Given the description of an element on the screen output the (x, y) to click on. 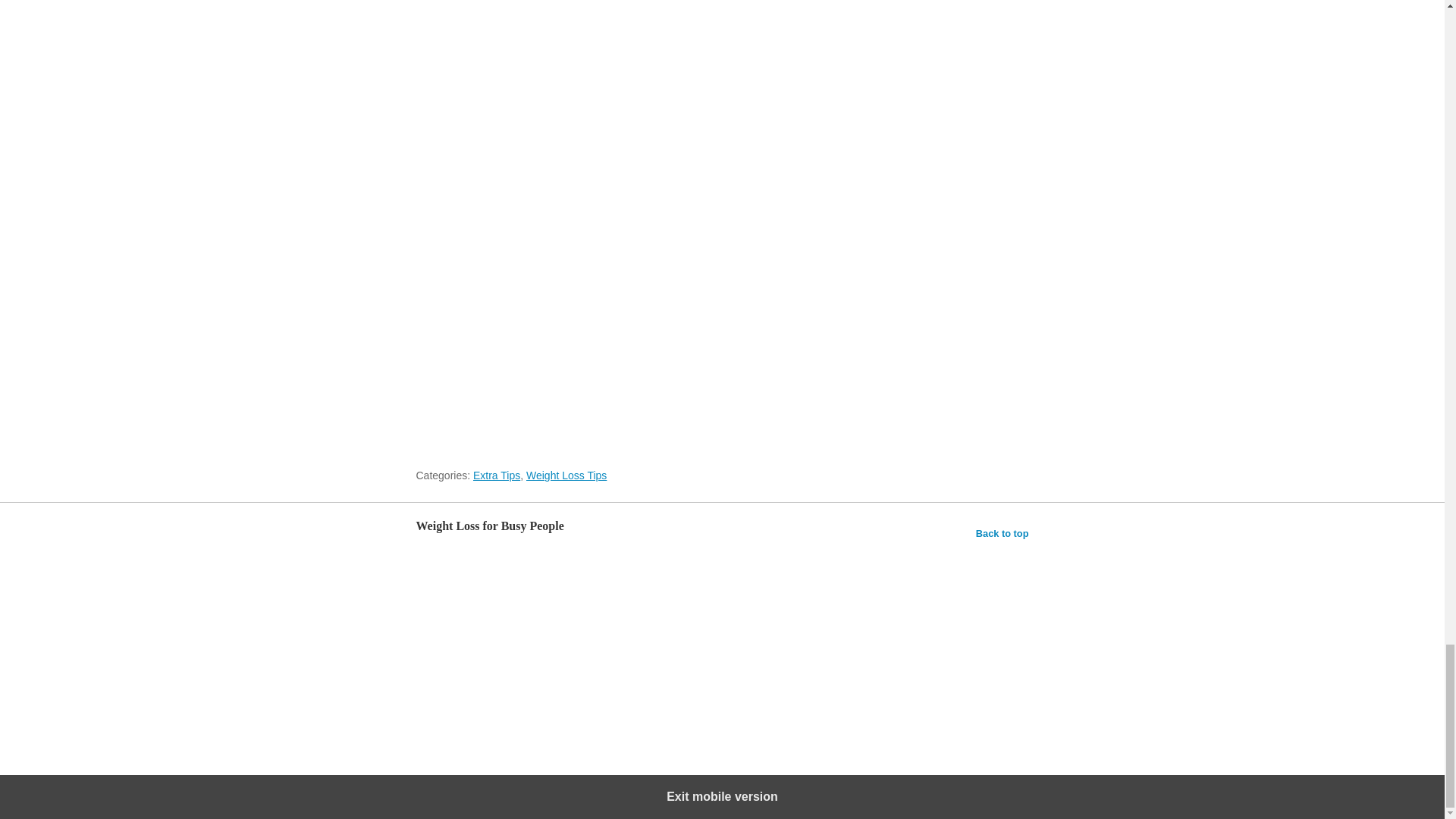
Extra Tips (496, 475)
Back to top (1002, 533)
Weight Loss Tips (566, 475)
